Given the description of an element on the screen output the (x, y) to click on. 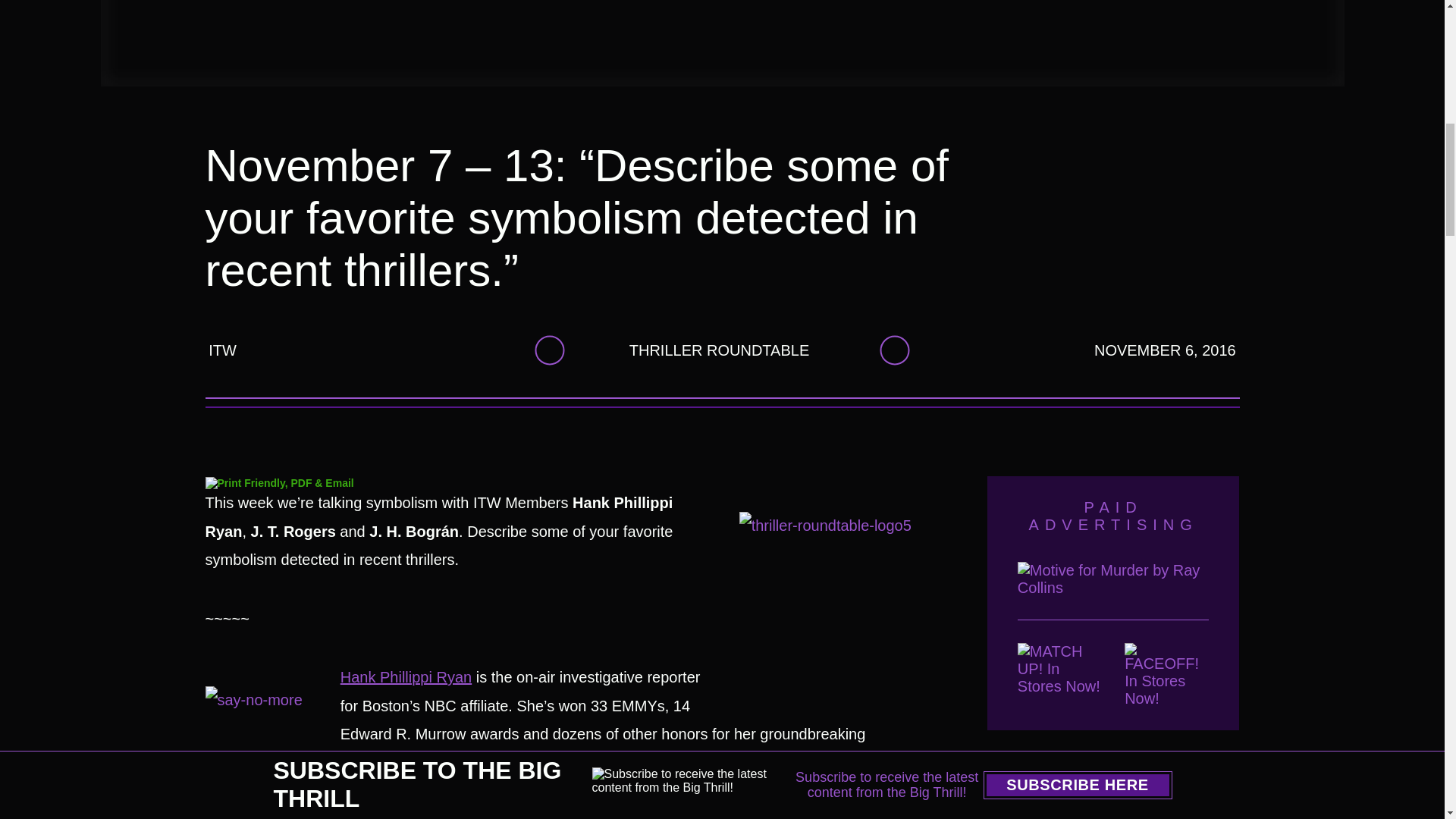
Motive for Murder by Ray Collins (1113, 590)
FACEOFF! In Stores Now! (1166, 674)
MATCH UP! In Stores Now! (1059, 674)
